Given the description of an element on the screen output the (x, y) to click on. 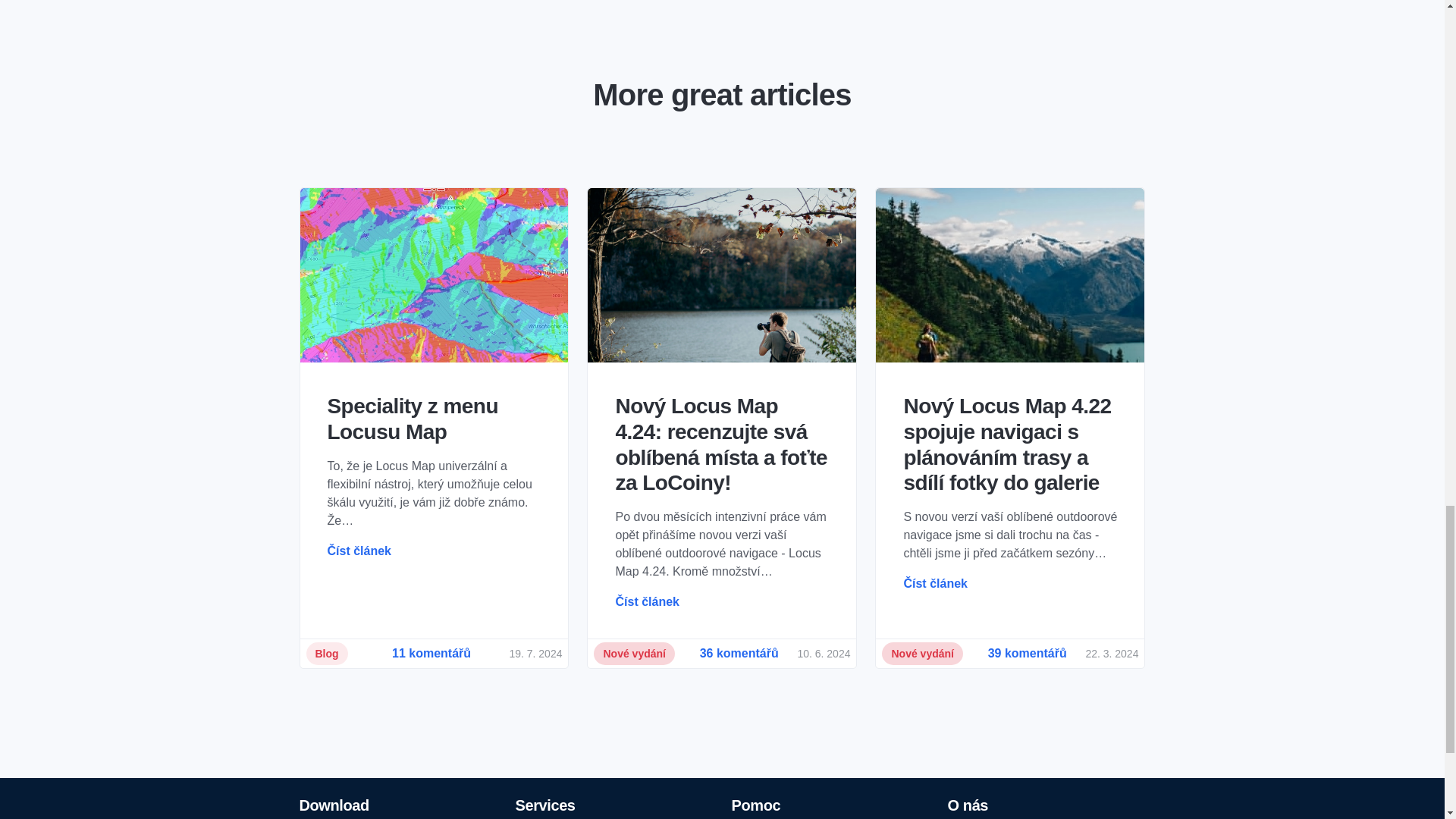
Speciality z menu Locusu Map (434, 418)
Blog (326, 653)
